Given the description of an element on the screen output the (x, y) to click on. 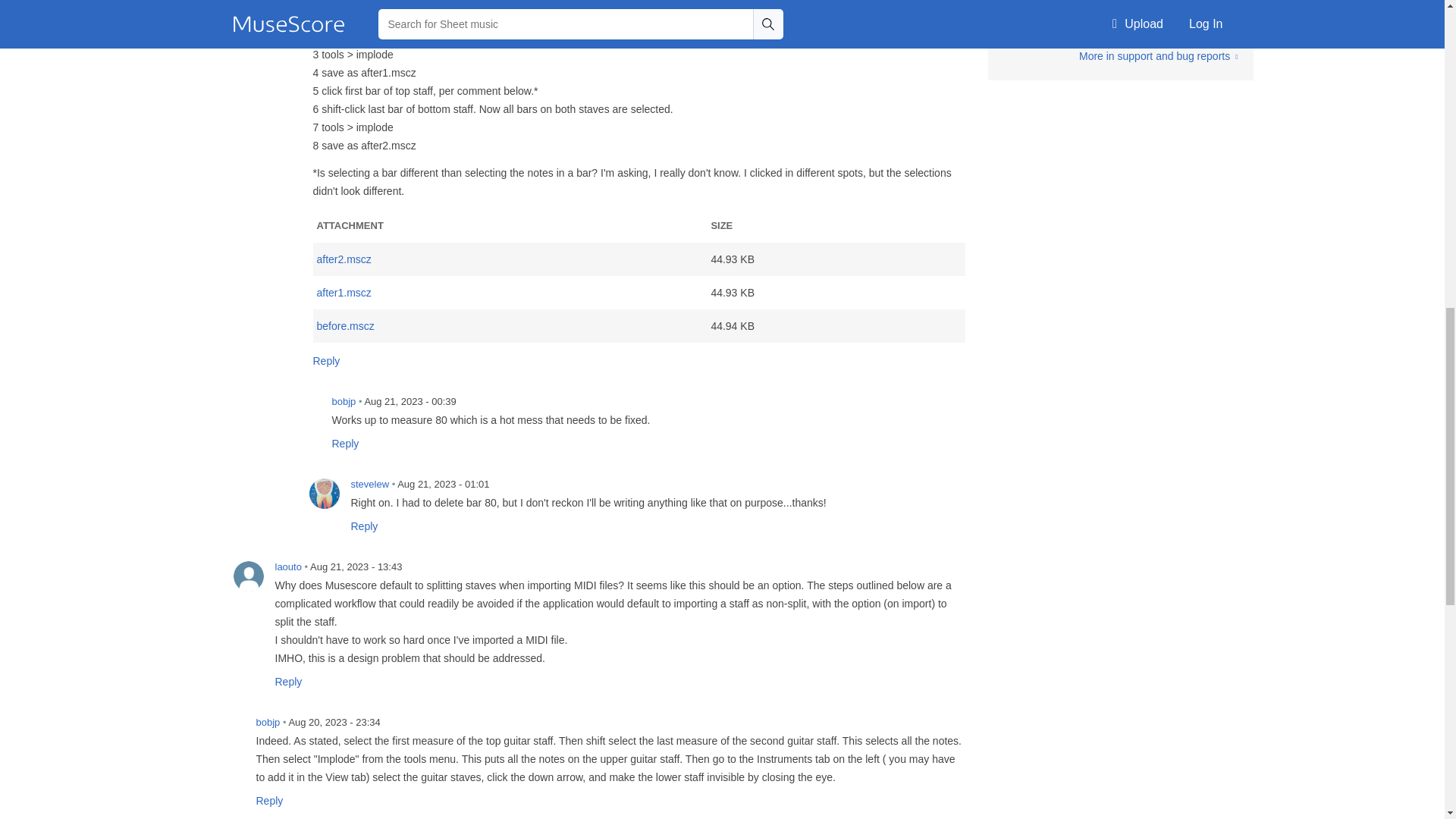
bobjp (304, 410)
laouto (247, 576)
bobjp (229, 731)
stevelew (323, 493)
